Given the description of an element on the screen output the (x, y) to click on. 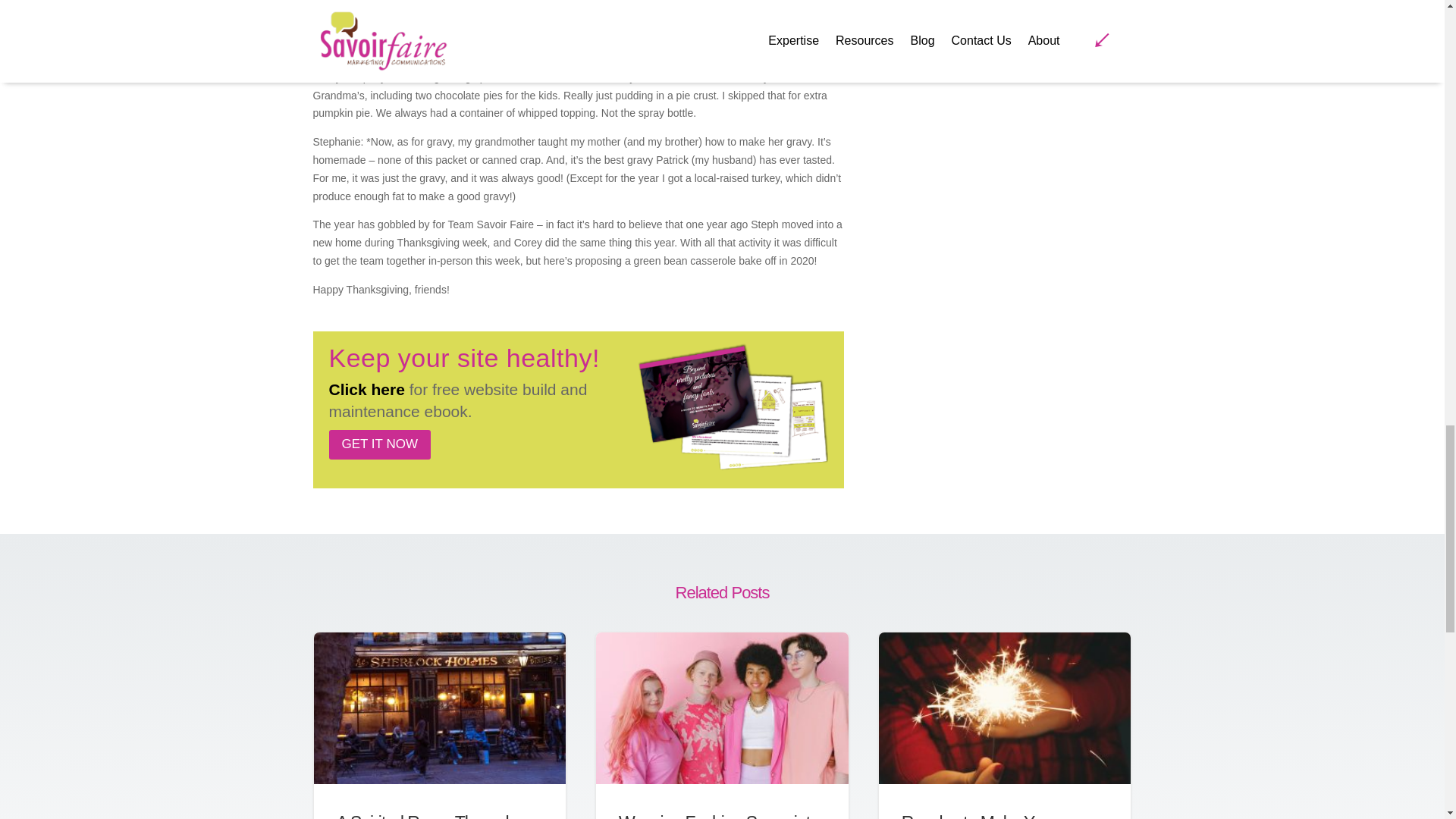
GET IT NOW (379, 444)
Click here (366, 389)
